Given the description of an element on the screen output the (x, y) to click on. 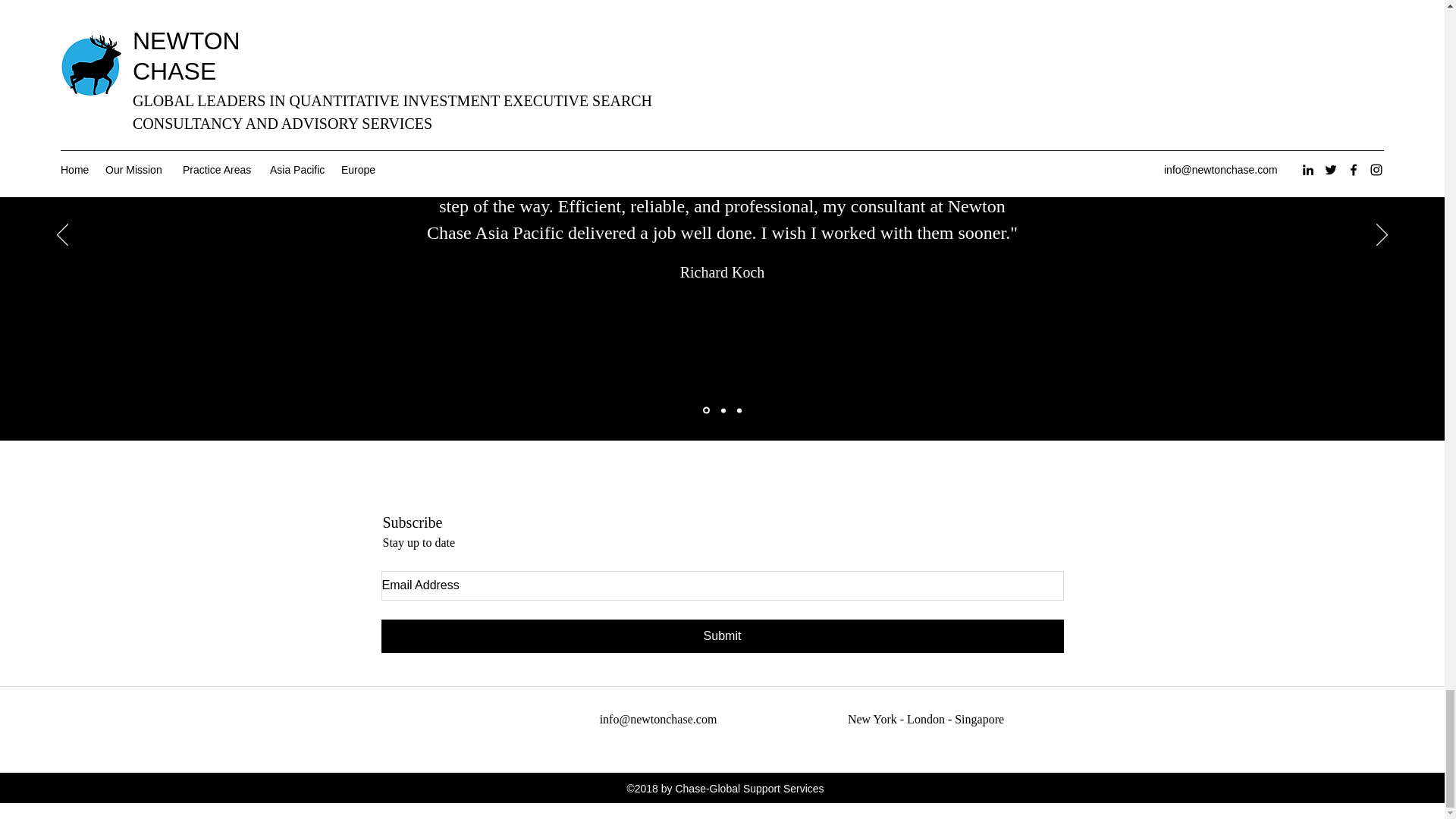
Submit (721, 635)
